Given the description of an element on the screen output the (x, y) to click on. 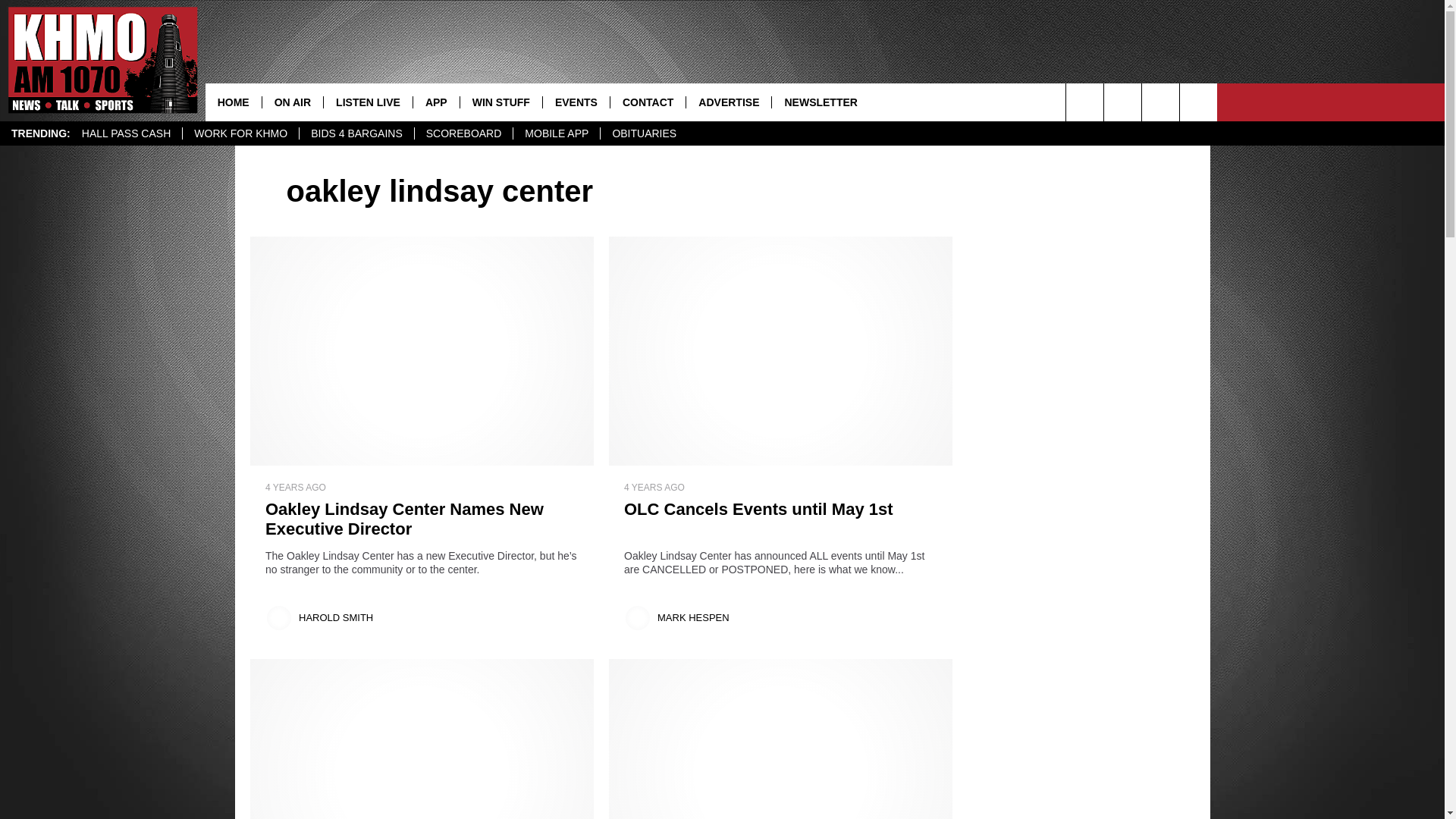
APP (436, 102)
MOBILE APP (555, 133)
EVENTS (575, 102)
ON AIR (292, 102)
HOME (233, 102)
WORK FOR KHMO (240, 133)
OBITUARIES (643, 133)
WIN STUFF (500, 102)
ADVERTISE (728, 102)
LISTEN LIVE (367, 102)
